Given the description of an element on the screen output the (x, y) to click on. 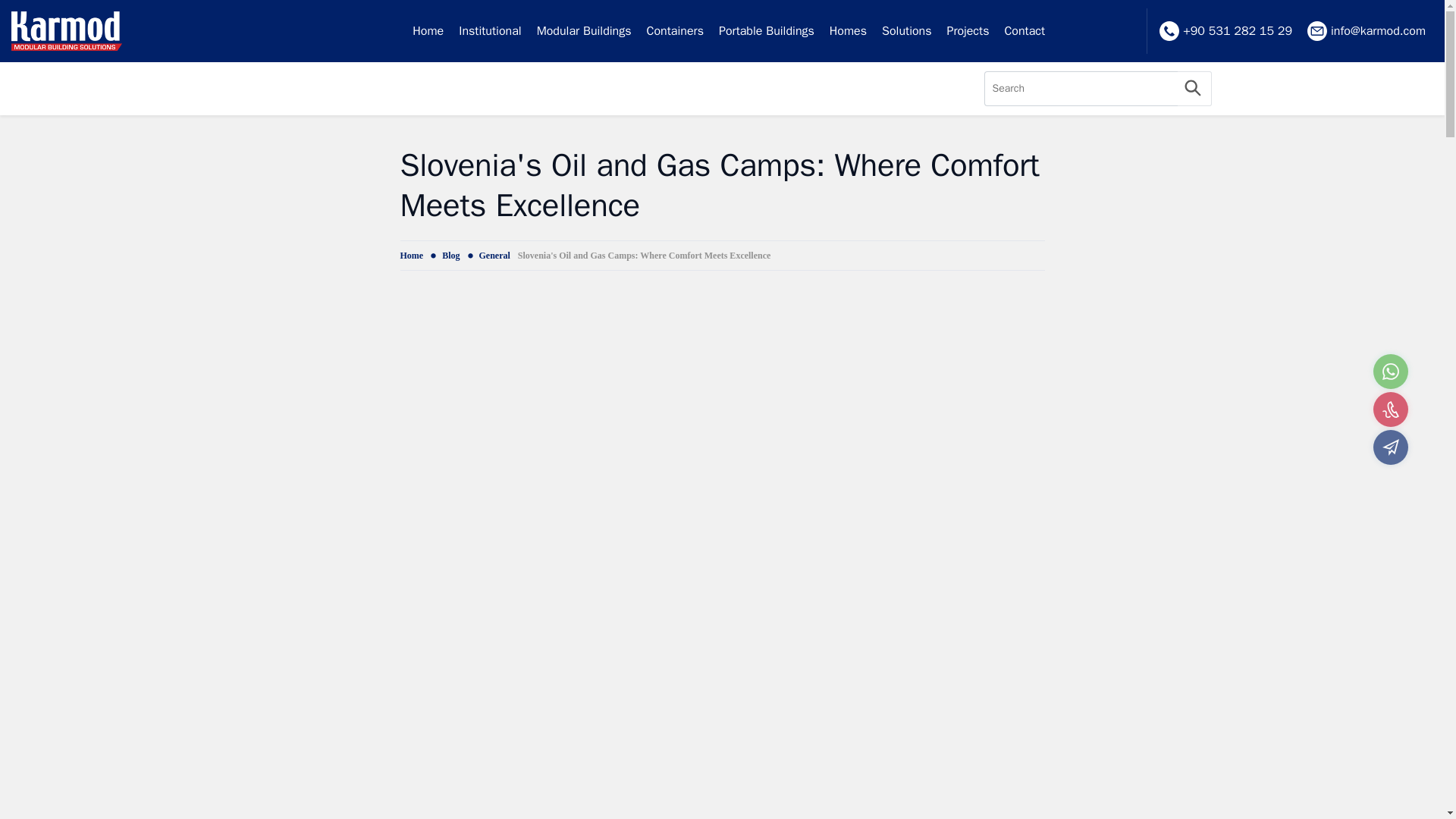
Email (1390, 447)
Call Us (1390, 409)
Institutional (489, 31)
Whatsapp (1390, 371)
Modular Buildings (584, 31)
Portable Buildings (766, 31)
Containers (675, 31)
